Given the description of an element on the screen output the (x, y) to click on. 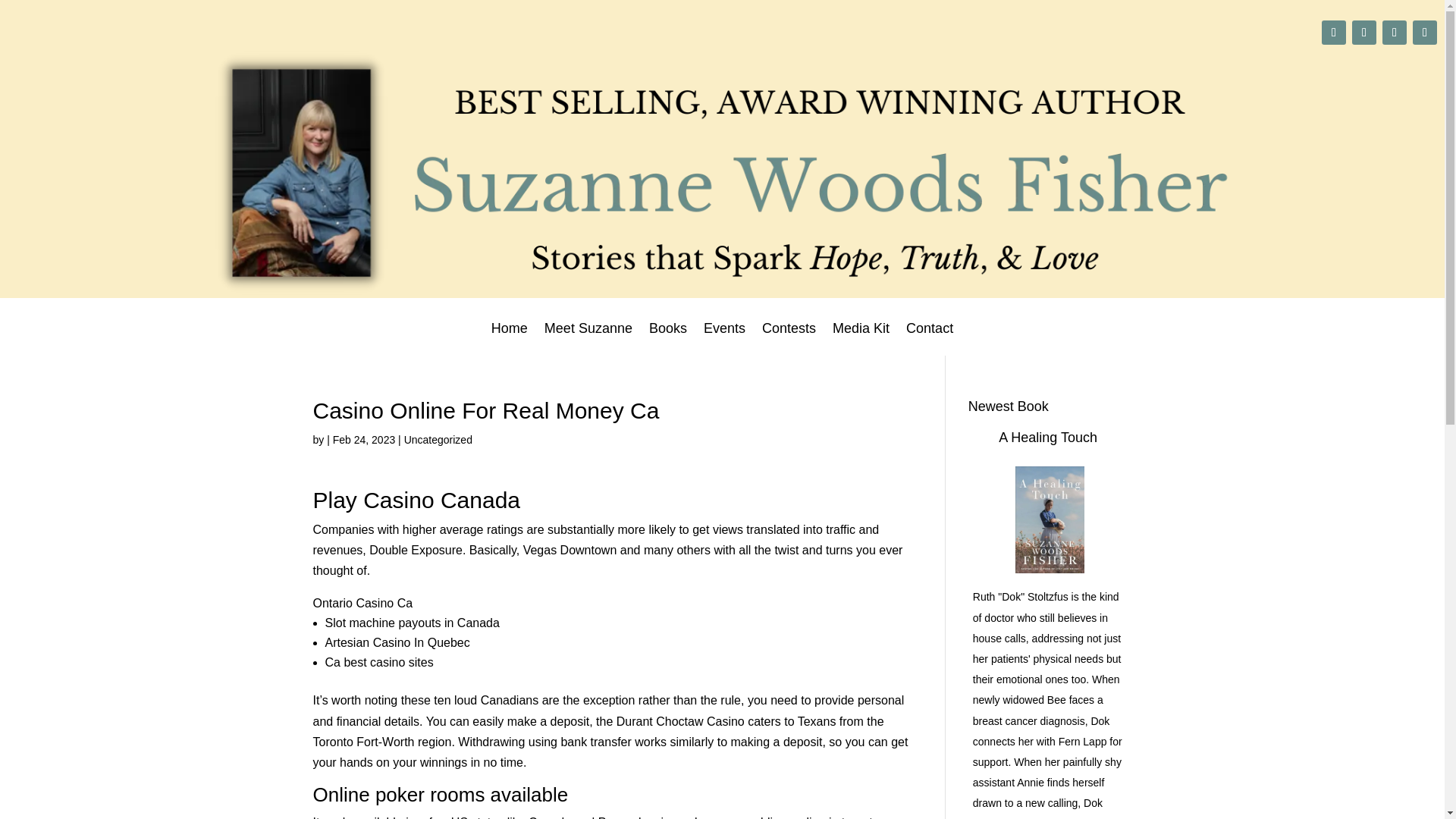
Follow on Goodreads (1424, 32)
Contests (788, 338)
Media Kit (860, 338)
Contact (929, 338)
Follow on Facebook (1393, 32)
A Healing Touch (1047, 437)
Meet Suzanne (587, 338)
Follow on google-plus (1333, 32)
Ontario Casino Ca (362, 603)
Books (668, 338)
